Given the description of an element on the screen output the (x, y) to click on. 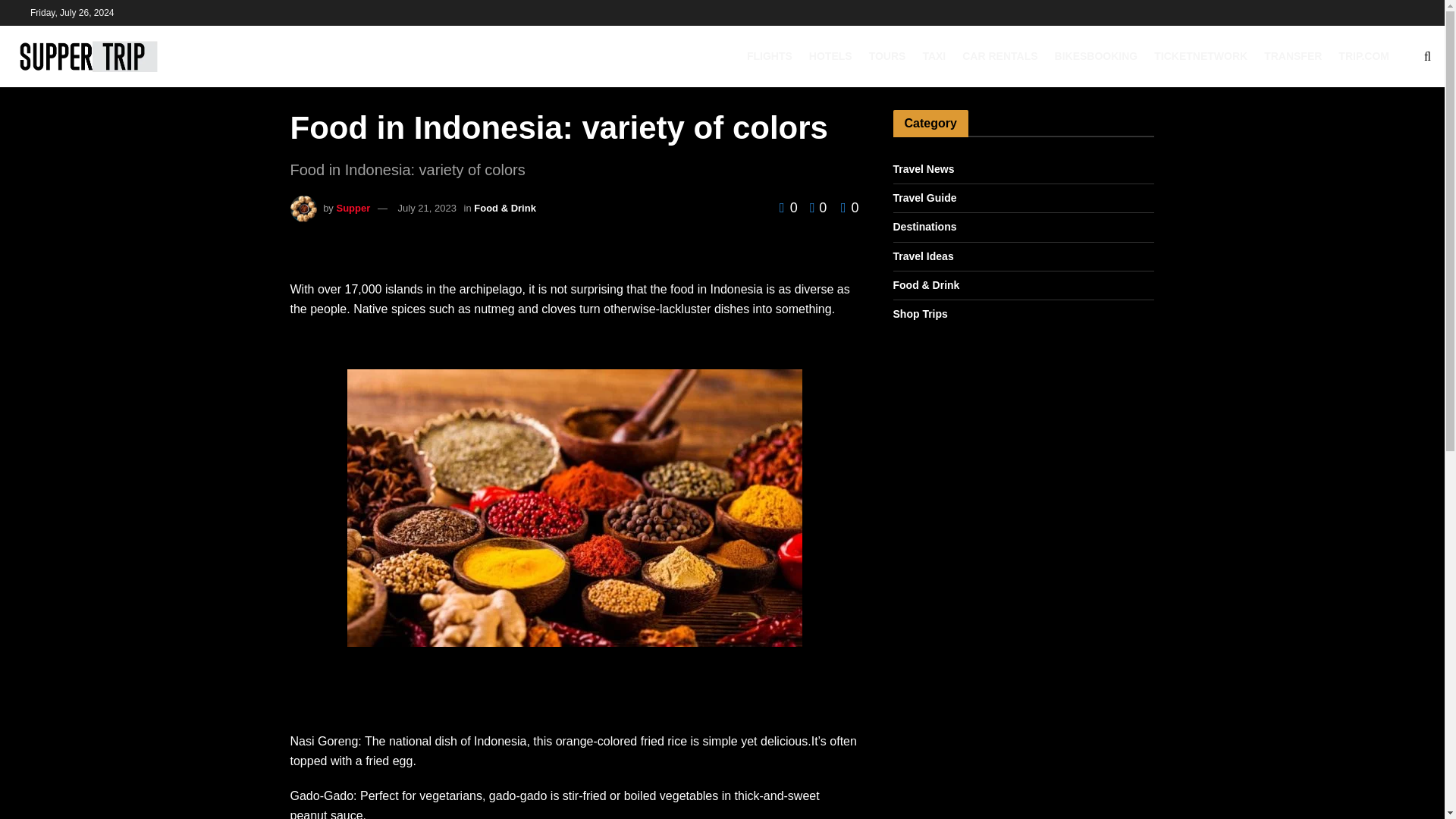
TRIP.COM (1363, 55)
0 (850, 207)
Shop Trips (920, 313)
TICKETNETWORK (1200, 55)
HOTELS (830, 55)
CAR RENTALS (999, 55)
Travel Guide (924, 198)
Travel News (924, 169)
TOURS (887, 55)
FLIGHTS (769, 55)
Destinations (924, 226)
BIKESBOOKING (1096, 55)
0 (814, 207)
July 21, 2023 (427, 207)
TRANSFER (1292, 55)
